Given the description of an element on the screen output the (x, y) to click on. 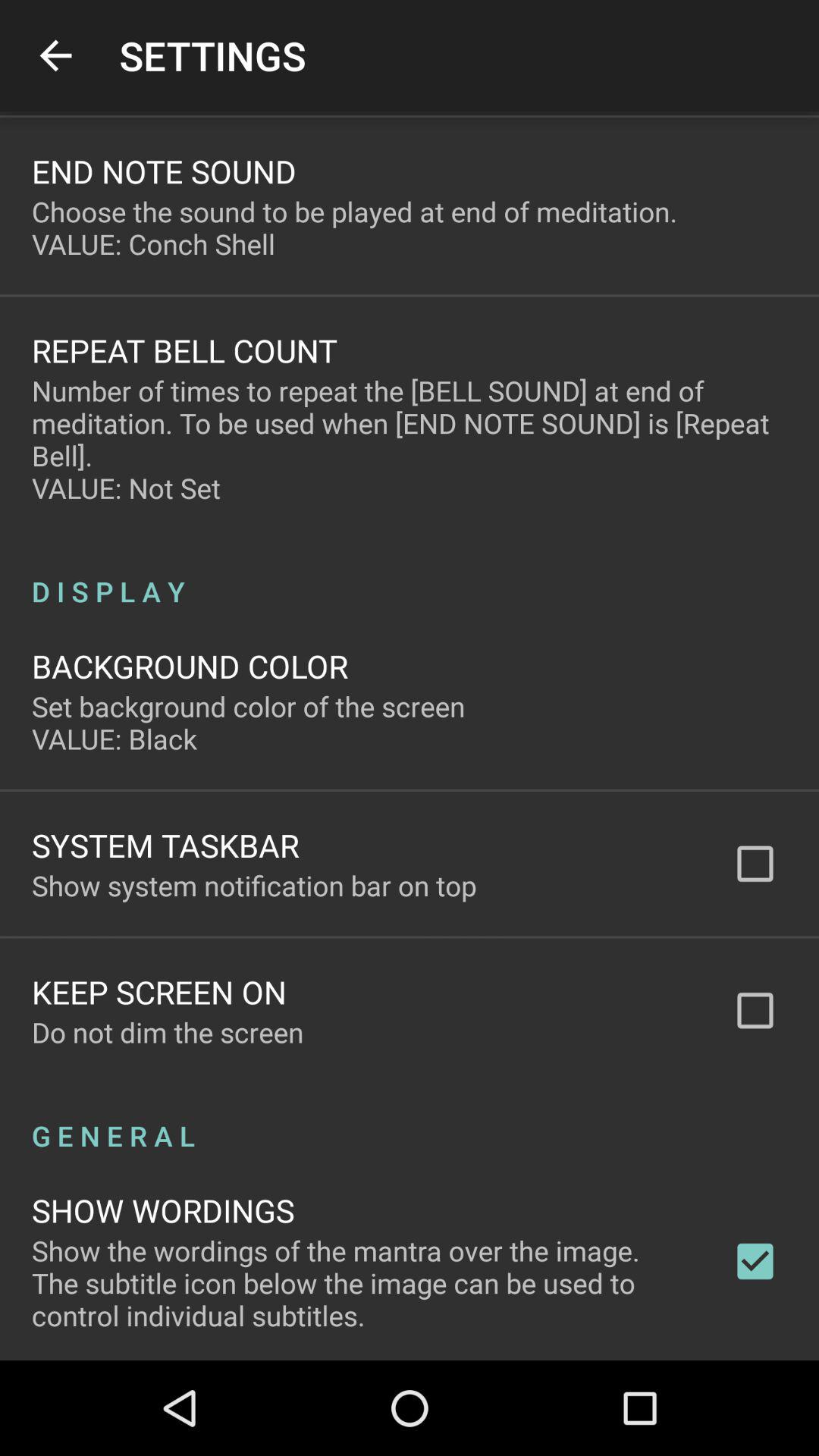
tap the item below keep screen on icon (167, 1032)
